Given the description of an element on the screen output the (x, y) to click on. 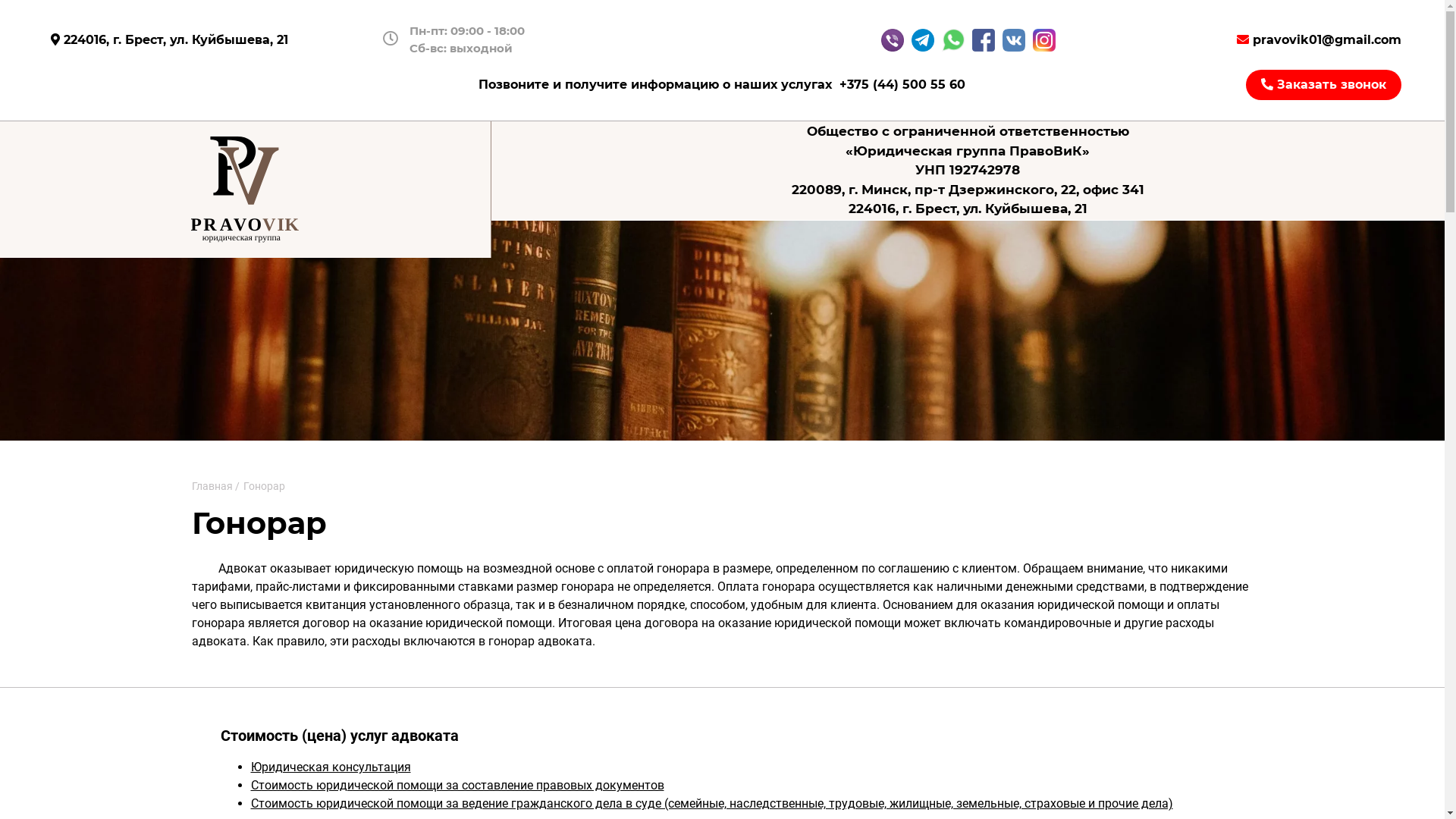
pravovik01@gmail.com Element type: text (1318, 39)
+375 (44) 500 55 60 Element type: text (902, 84)
